Given the description of an element on the screen output the (x, y) to click on. 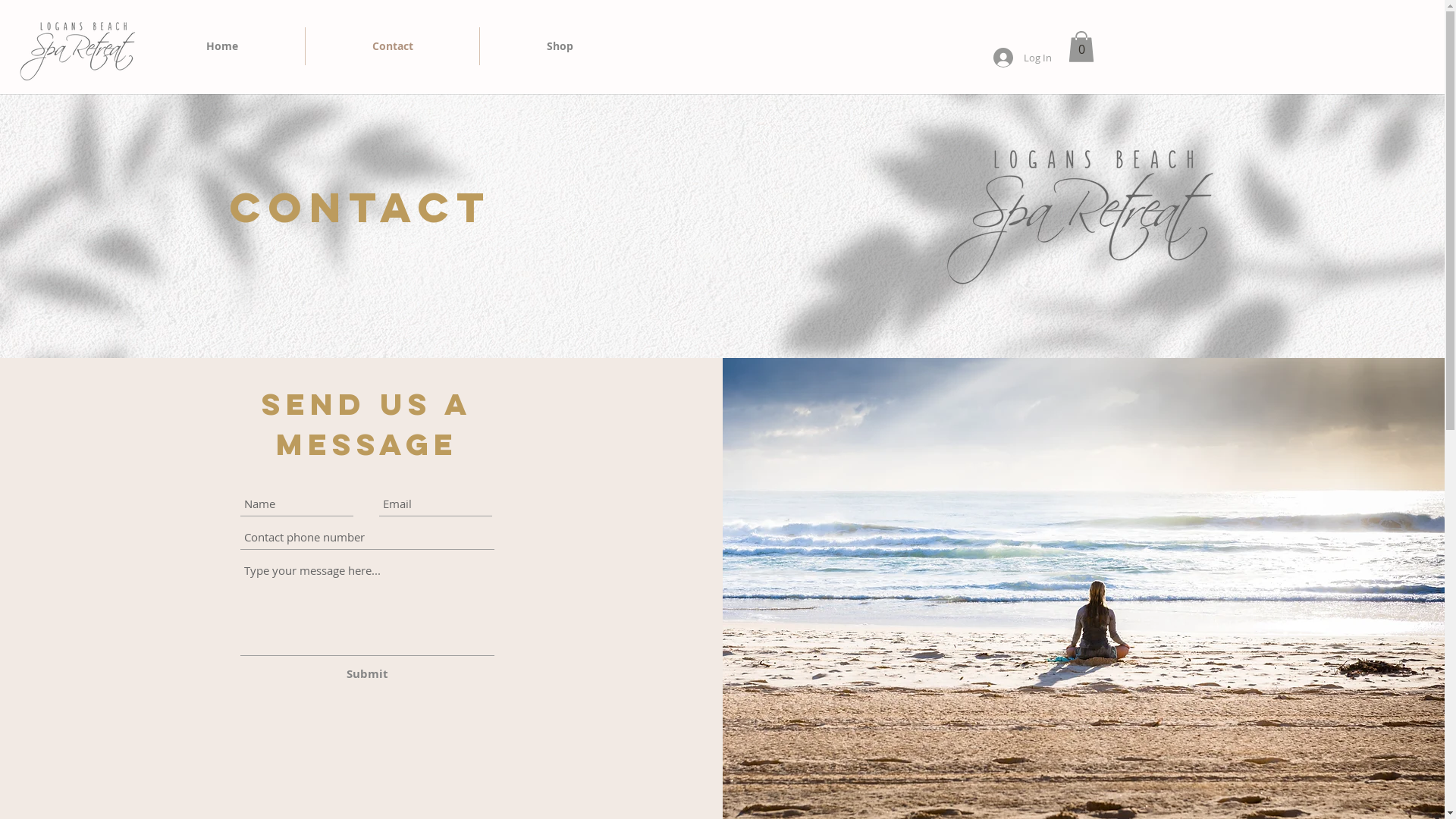
Shop Element type: text (559, 46)
Log In Element type: text (1022, 57)
Contact Element type: text (392, 46)
Home Element type: text (221, 46)
Submit Element type: text (367, 673)
0 Element type: text (1080, 46)
